Given the description of an element on the screen output the (x, y) to click on. 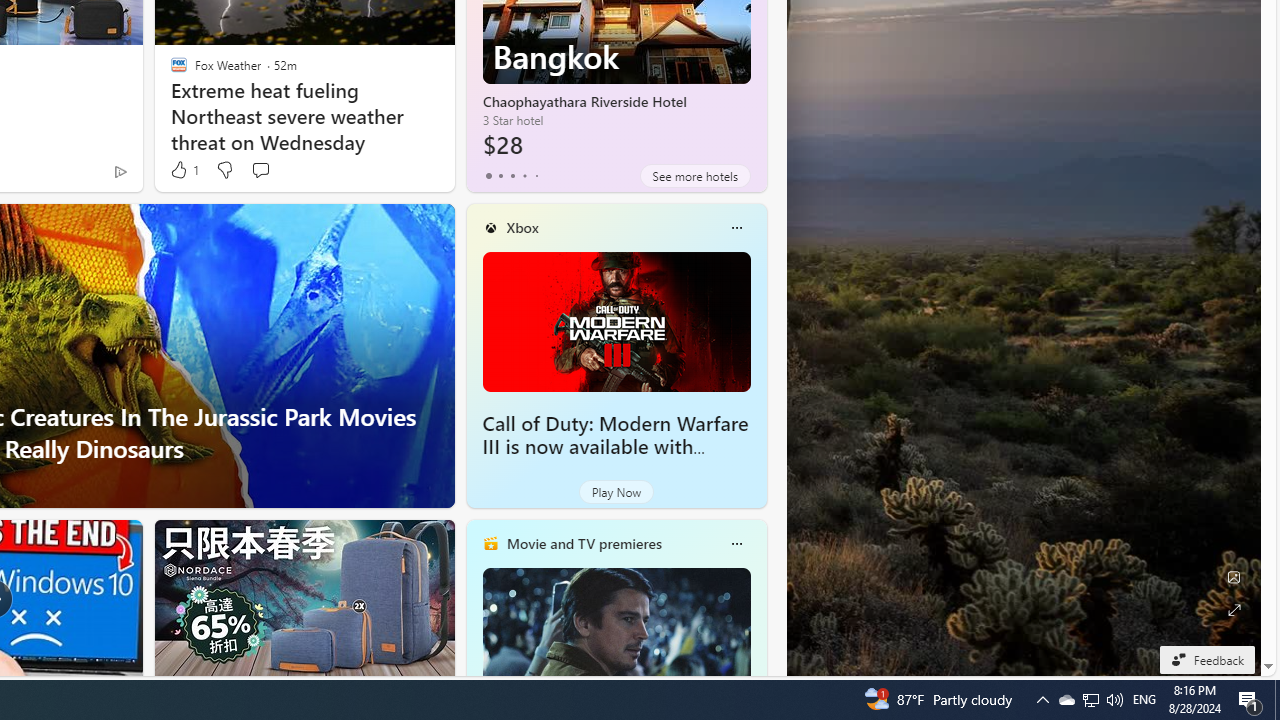
More options (736, 543)
Edit Background (1233, 577)
Movie and TV premieres (583, 543)
tab-1 (500, 175)
1 Like (183, 170)
Start the conversation (260, 170)
tab-0 (488, 175)
Start the conversation (260, 169)
Dislike (224, 170)
tab-2 (511, 175)
Play Now (616, 491)
Ad Choice (119, 171)
Class: icon-img (736, 543)
Xbox (521, 227)
